Given the description of an element on the screen output the (x, y) to click on. 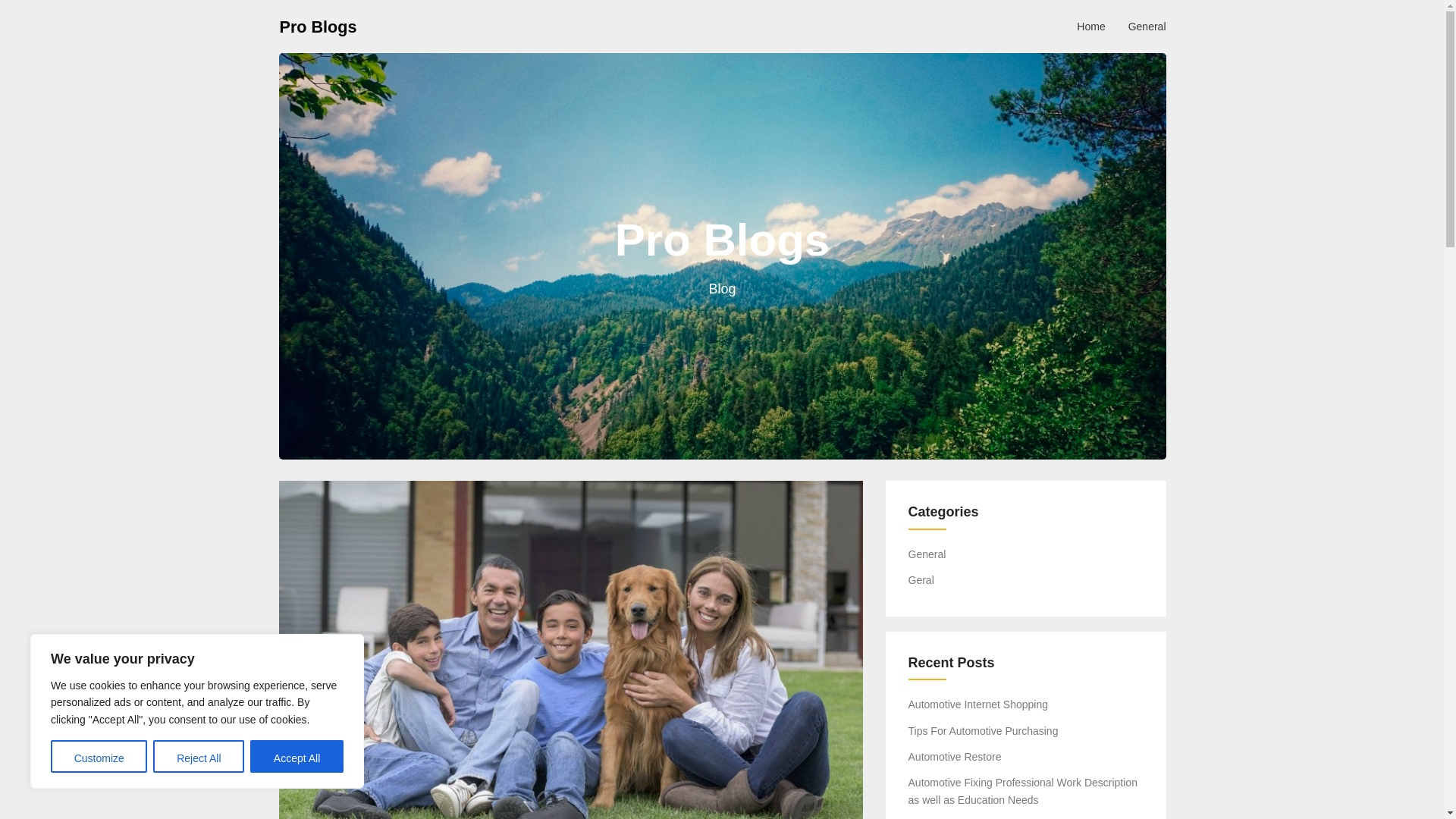
Pro Blogs (317, 26)
Geral (921, 580)
General (927, 553)
General (1146, 26)
Automotive Internet Shopping (978, 704)
Customize (98, 756)
Tips For Automotive Purchasing (983, 730)
Home (1090, 26)
Accept All (296, 756)
